Given the description of an element on the screen output the (x, y) to click on. 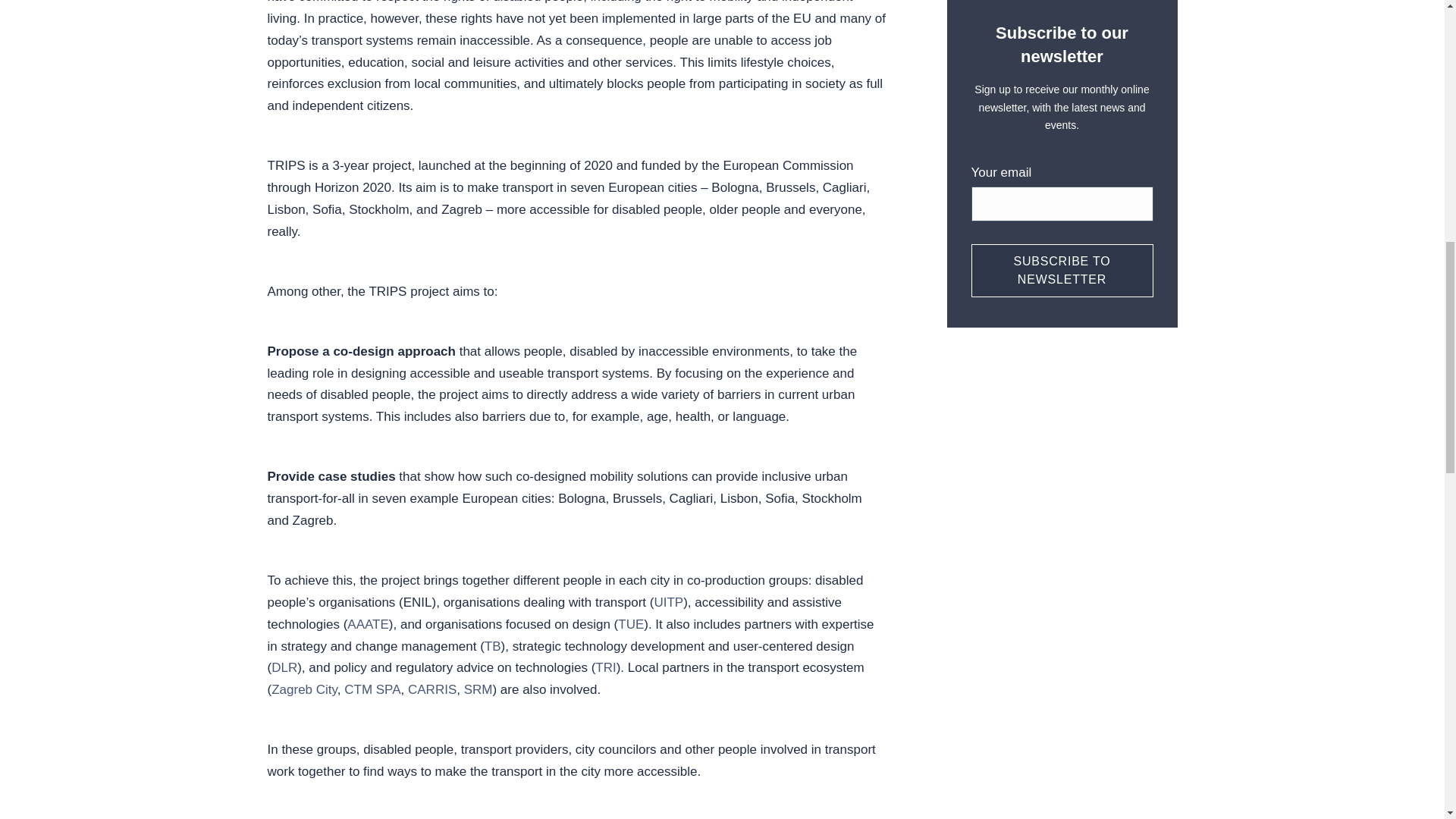
Subscribe to newsletter (1062, 270)
